Given the description of an element on the screen output the (x, y) to click on. 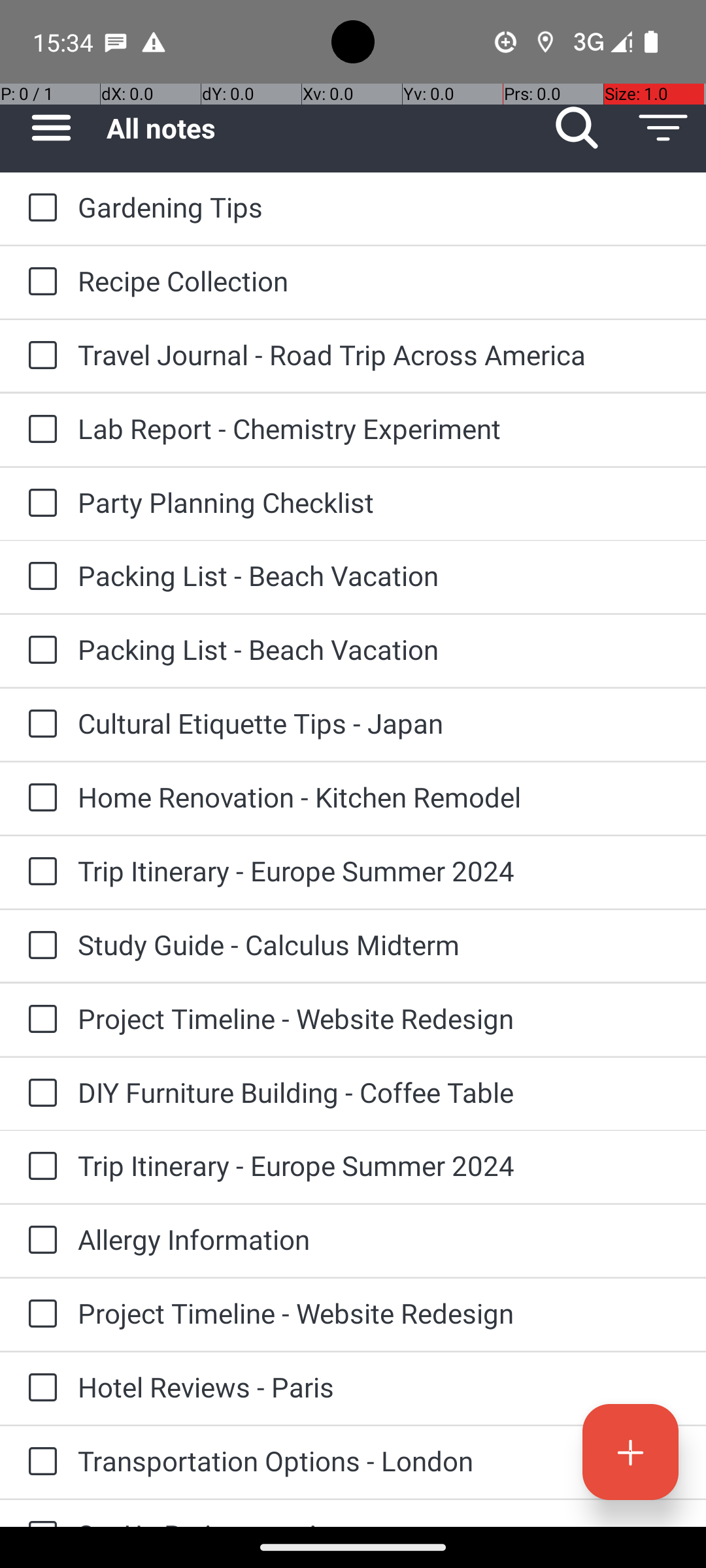
to-do: Gardening Tips Element type: android.widget.CheckBox (38, 208)
Gardening Tips Element type: android.widget.TextView (378, 206)
to-do: Recipe Collection Element type: android.widget.CheckBox (38, 282)
Recipe Collection Element type: android.widget.TextView (378, 280)
to-do: Travel Journal - Road Trip Across America Element type: android.widget.CheckBox (38, 356)
Travel Journal - Road Trip Across America Element type: android.widget.TextView (378, 354)
to-do: Lab Report - Chemistry Experiment Element type: android.widget.CheckBox (38, 429)
Lab Report - Chemistry Experiment Element type: android.widget.TextView (378, 427)
to-do: Party Planning Checklist Element type: android.widget.CheckBox (38, 503)
Party Planning Checklist Element type: android.widget.TextView (378, 501)
to-do: Packing List - Beach Vacation Element type: android.widget.CheckBox (38, 576)
Packing List - Beach Vacation Element type: android.widget.TextView (378, 574)
to-do: Cultural Etiquette Tips - Japan Element type: android.widget.CheckBox (38, 724)
Cultural Etiquette Tips - Japan Element type: android.widget.TextView (378, 722)
to-do: Home Renovation - Kitchen Remodel Element type: android.widget.CheckBox (38, 798)
Home Renovation - Kitchen Remodel Element type: android.widget.TextView (378, 796)
to-do: Trip Itinerary - Europe Summer 2024 Element type: android.widget.CheckBox (38, 872)
Trip Itinerary - Europe Summer 2024 Element type: android.widget.TextView (378, 870)
to-do: Study Guide - Calculus Midterm Element type: android.widget.CheckBox (38, 945)
Study Guide - Calculus Midterm Element type: android.widget.TextView (378, 944)
to-do: Project Timeline - Website Redesign Element type: android.widget.CheckBox (38, 1019)
Project Timeline - Website Redesign Element type: android.widget.TextView (378, 1017)
to-do: DIY Furniture Building - Coffee Table Element type: android.widget.CheckBox (38, 1093)
DIY Furniture Building - Coffee Table Element type: android.widget.TextView (378, 1091)
to-do: Allergy Information Element type: android.widget.CheckBox (38, 1240)
Allergy Information Element type: android.widget.TextView (378, 1238)
to-do: Hotel Reviews - Paris Element type: android.widget.CheckBox (38, 1388)
Hotel Reviews - Paris Element type: android.widget.TextView (378, 1386)
to-do: Transportation Options - London Element type: android.widget.CheckBox (38, 1462)
Transportation Options - London Element type: android.widget.TextView (378, 1460)
to-do: Set Up Retirement Account Element type: android.widget.CheckBox (38, 1513)
Set Up Retirement Account Element type: android.widget.TextView (378, 1520)
